Given the description of an element on the screen output the (x, y) to click on. 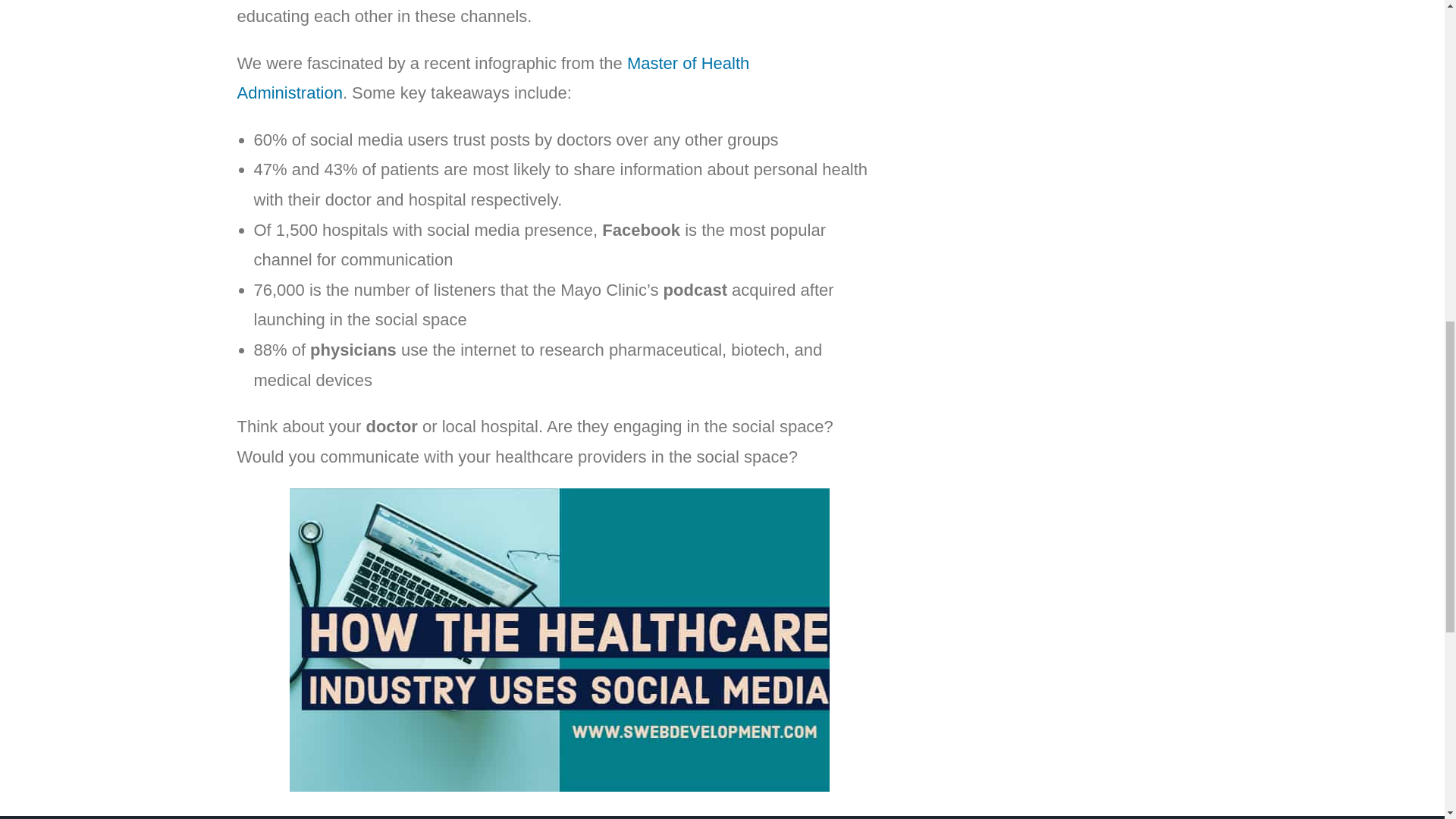
Master of Health Administration (492, 78)
